Given the description of an element on the screen output the (x, y) to click on. 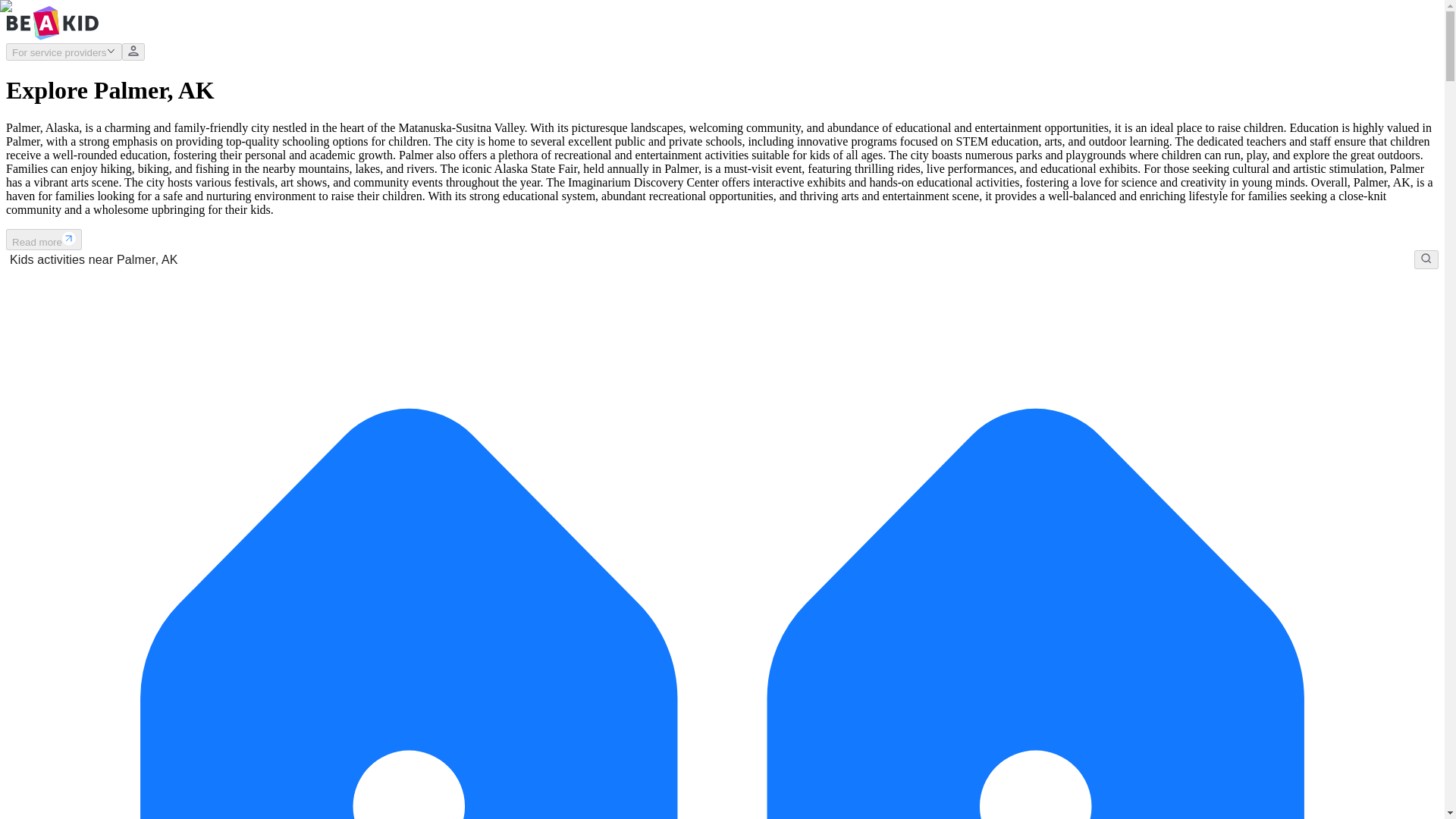
For service providers (63, 51)
Read more (43, 239)
BeAKid home (52, 35)
